Given the description of an element on the screen output the (x, y) to click on. 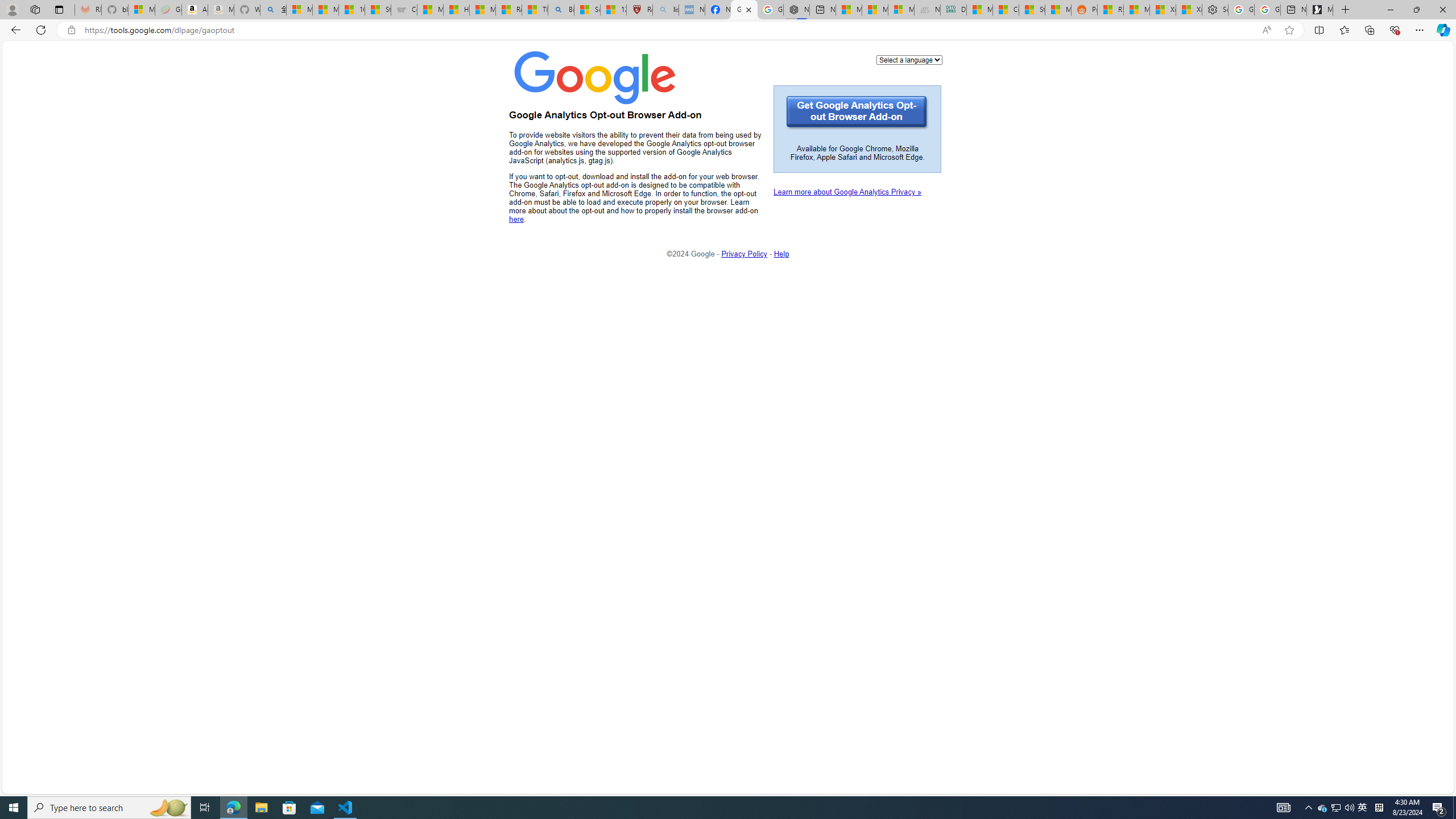
Get Google Analytics Opt-out Browser Add-on (857, 112)
